Given the description of an element on the screen output the (x, y) to click on. 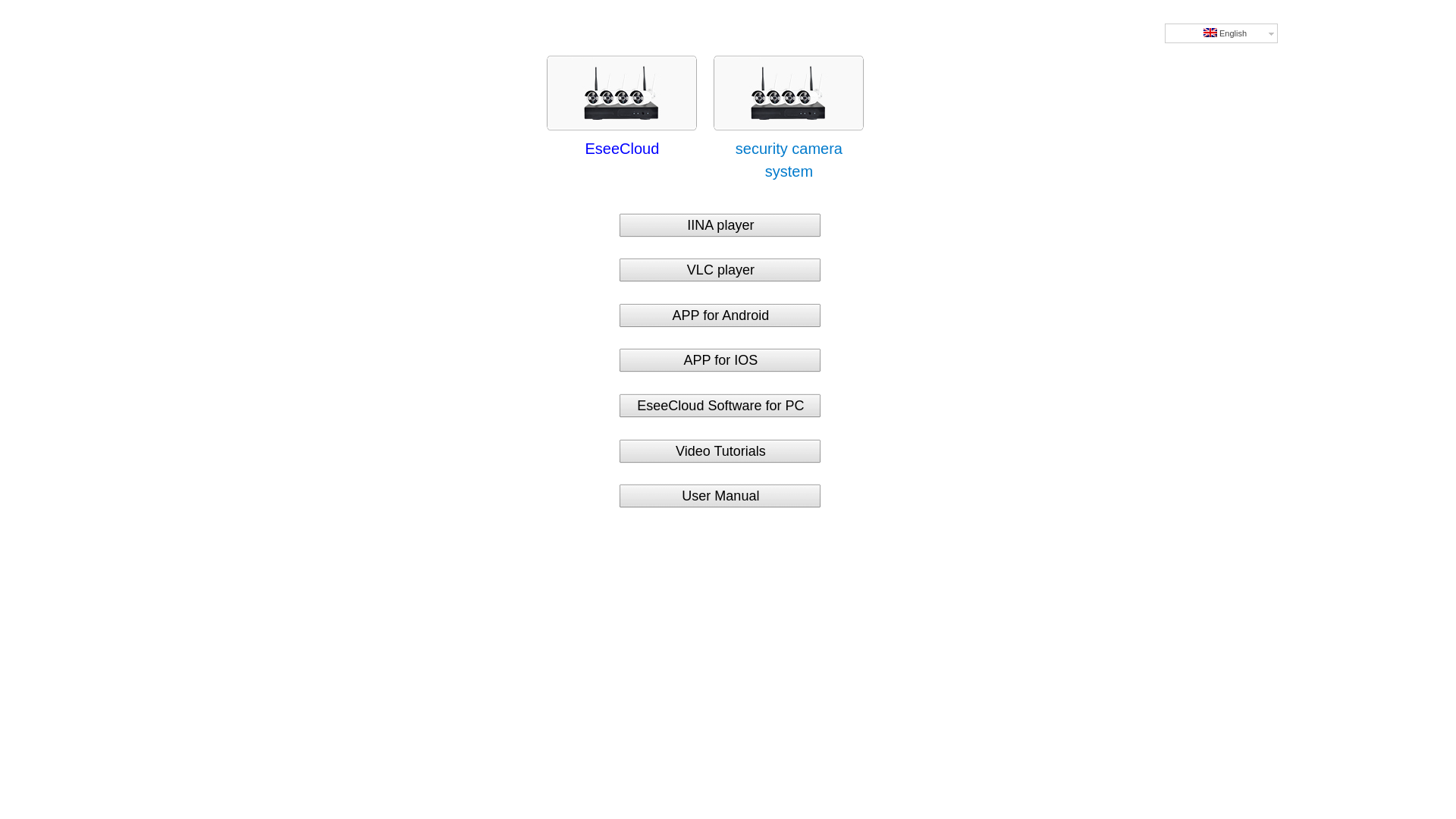
VLC player Element type: text (720, 260)
EseeCloud Software for PC Element type: text (720, 396)
security camera system Element type: text (788, 148)
User Manual Element type: text (720, 486)
Video Tutorials Element type: text (720, 442)
APP for IOS Element type: text (720, 351)
English Element type: hover (1210, 32)
IINA player Element type: text (720, 216)
APP for Android Element type: text (720, 306)
 English Element type: text (1220, 33)
